Given the description of an element on the screen output the (x, y) to click on. 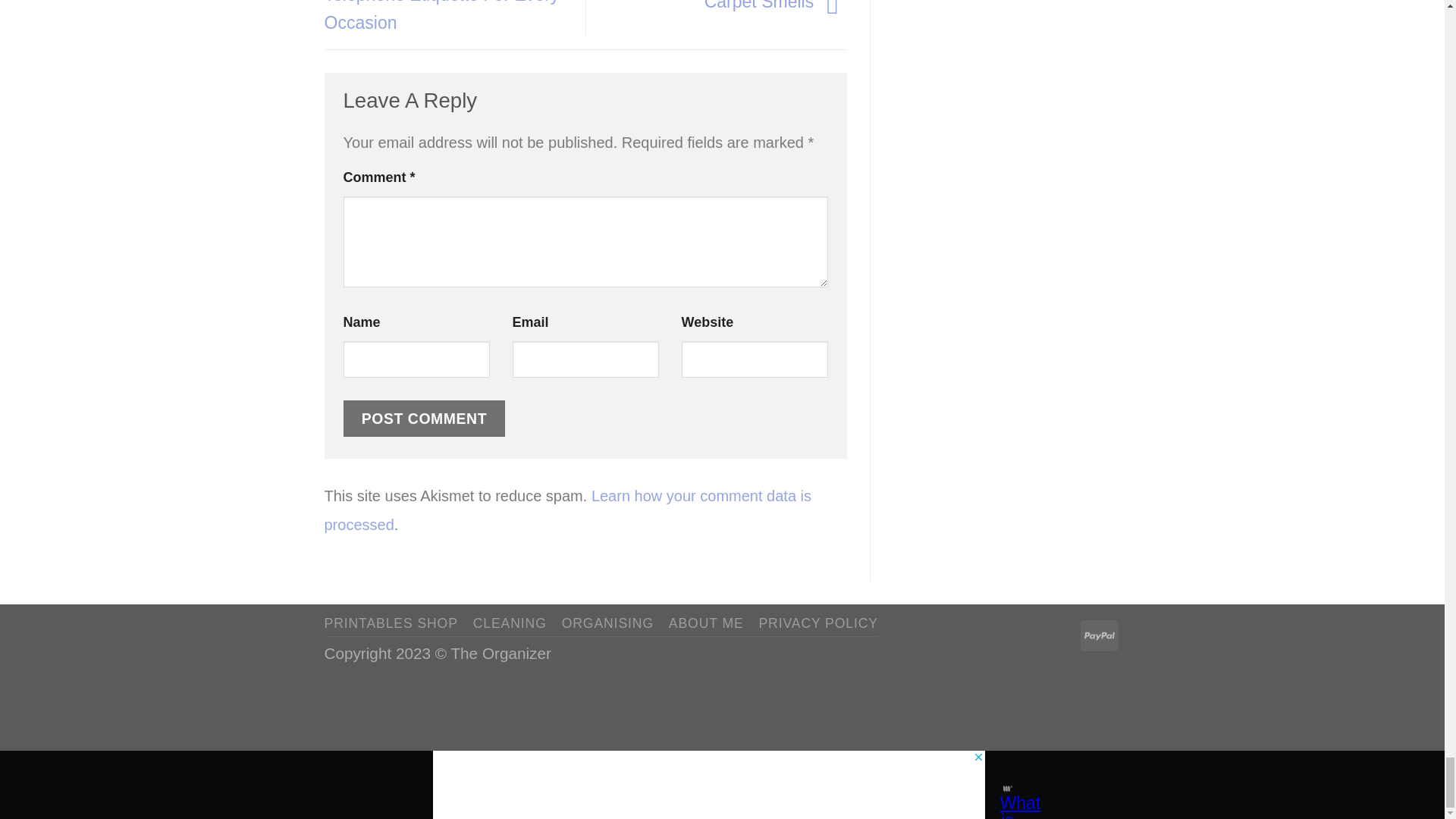
Post Comment (423, 418)
